Given the description of an element on the screen output the (x, y) to click on. 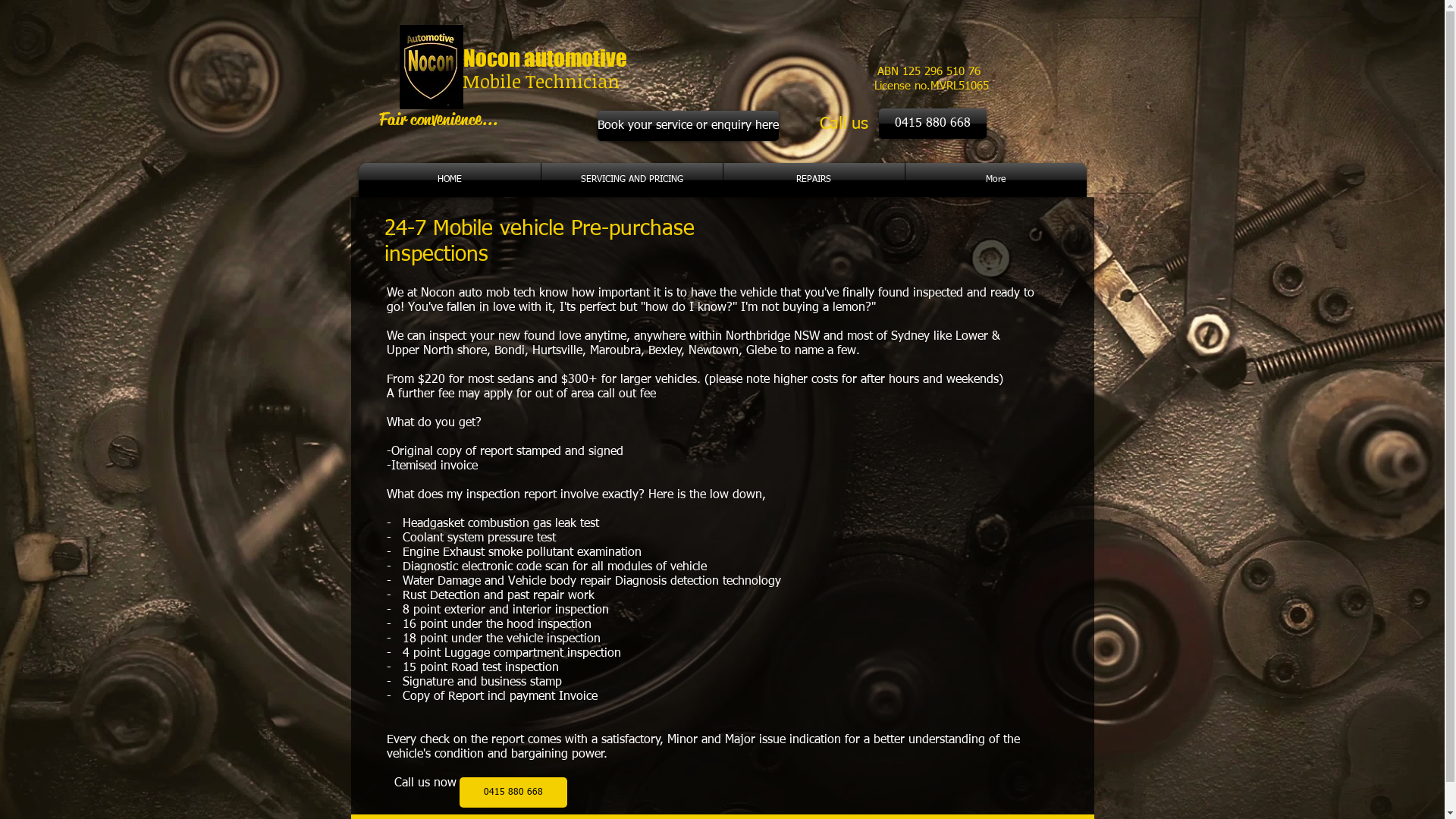
HOME Element type: text (448, 180)
0415 880 668 Element type: text (931, 123)
Nocon automotive Element type: text (544, 57)
REPAIRS Element type: text (813, 180)
FullSizeRender (2) hhhhhhhhhhhhh.jpg Element type: hover (430, 66)
Book your service or enquiry here Element type: text (687, 125)
0415 880 668 Element type: text (513, 792)
 Mobile Technician Element type: text (538, 80)
SERVICING AND PRICING Element type: text (631, 180)
